Given the description of an element on the screen output the (x, y) to click on. 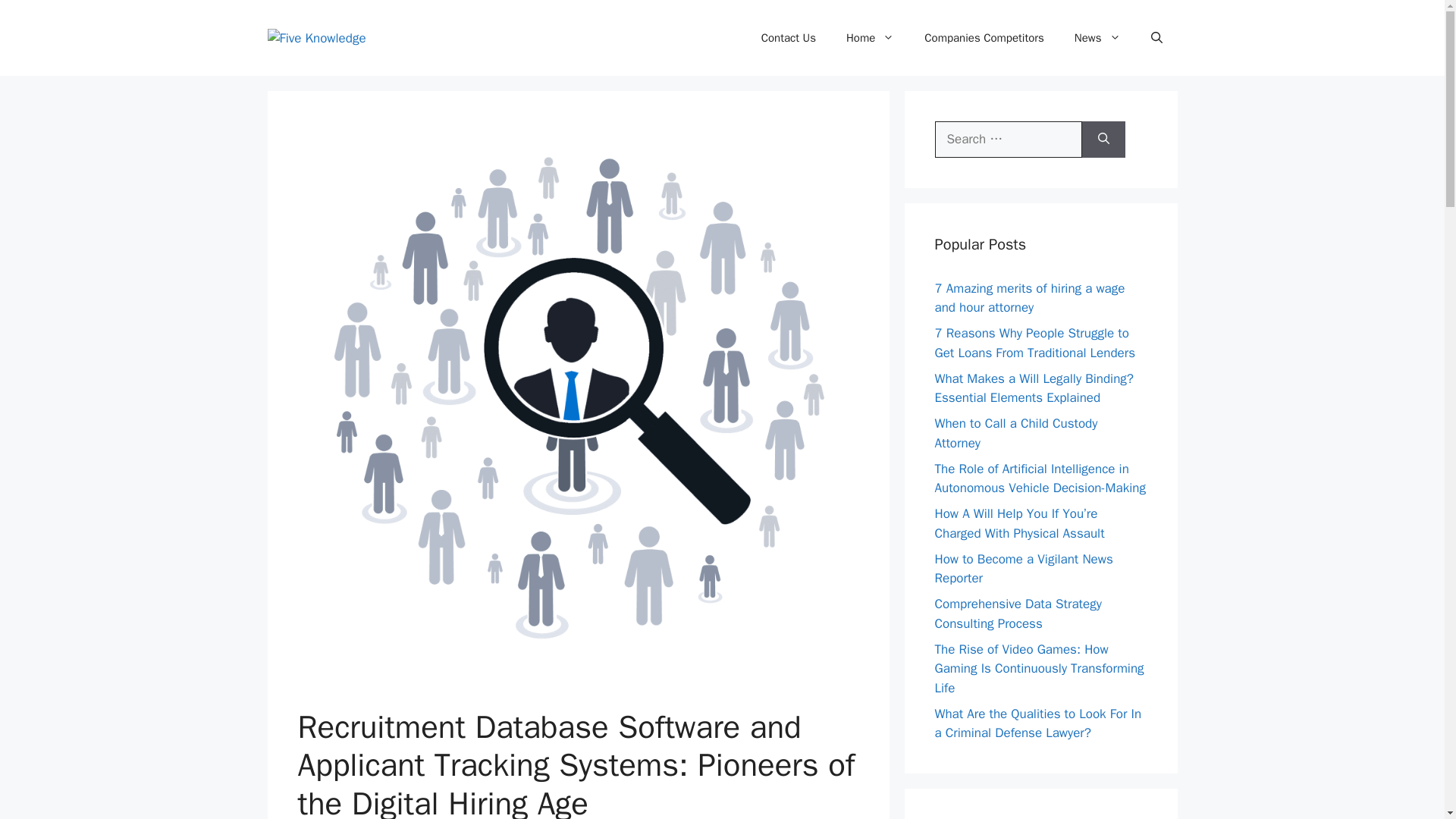
Home (869, 37)
Comprehensive Data Strategy Consulting Process (1017, 613)
How to Become a Vigilant News Reporter (1023, 568)
Companies Competitors (983, 37)
News (1097, 37)
Search for: (1007, 139)
Contact Us (788, 37)
